Given the description of an element on the screen output the (x, y) to click on. 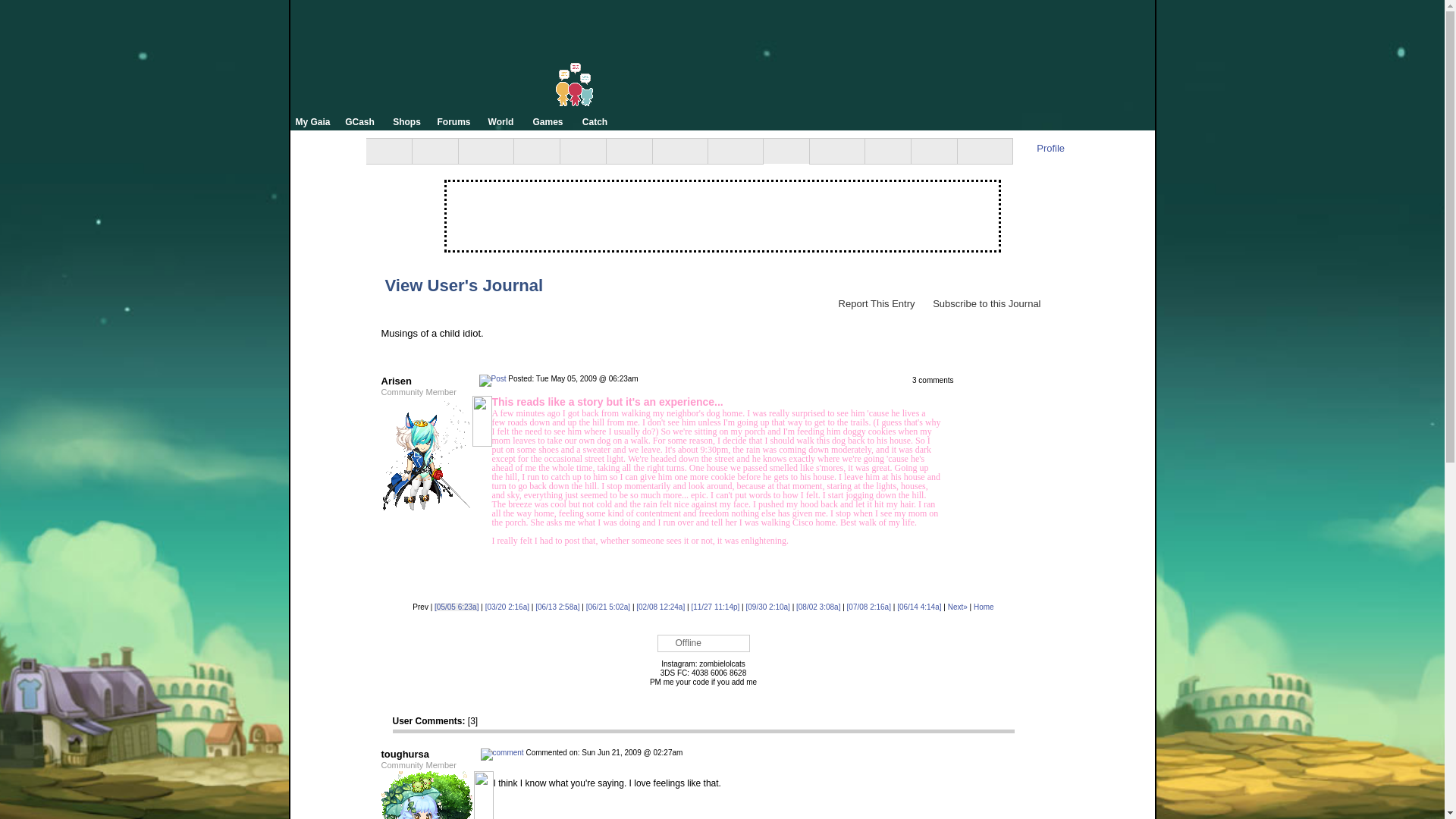
Avatar (435, 150)
Inventory (629, 150)
Friends (730, 150)
Aquarium (582, 150)
Journal (785, 150)
Login to Gaia (1043, 11)
Quests (832, 150)
House (480, 150)
My Gaia (311, 121)
Car (536, 150)
